Given the description of an element on the screen output the (x, y) to click on. 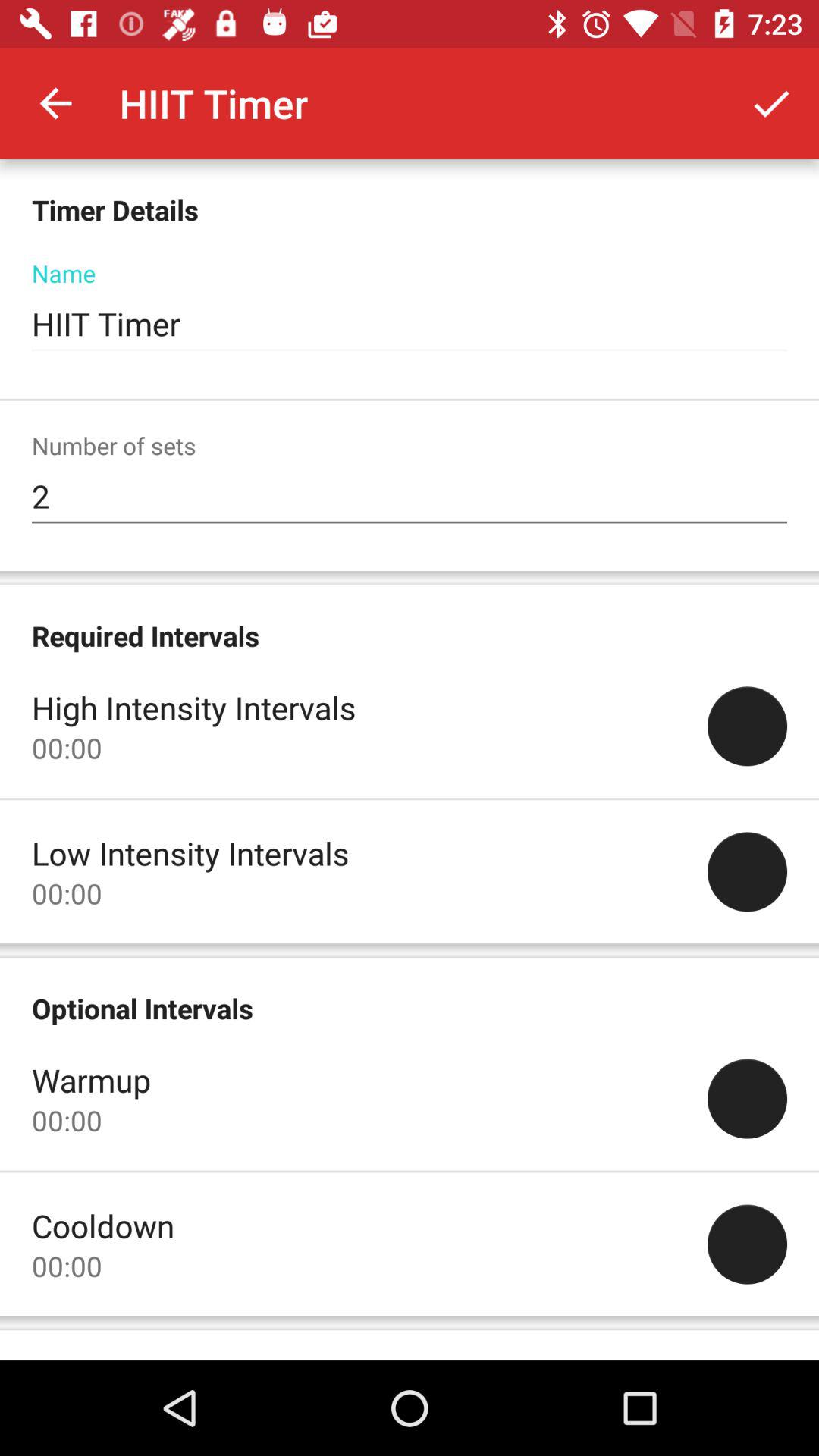
swipe until 2 (409, 496)
